Given the description of an element on the screen output the (x, y) to click on. 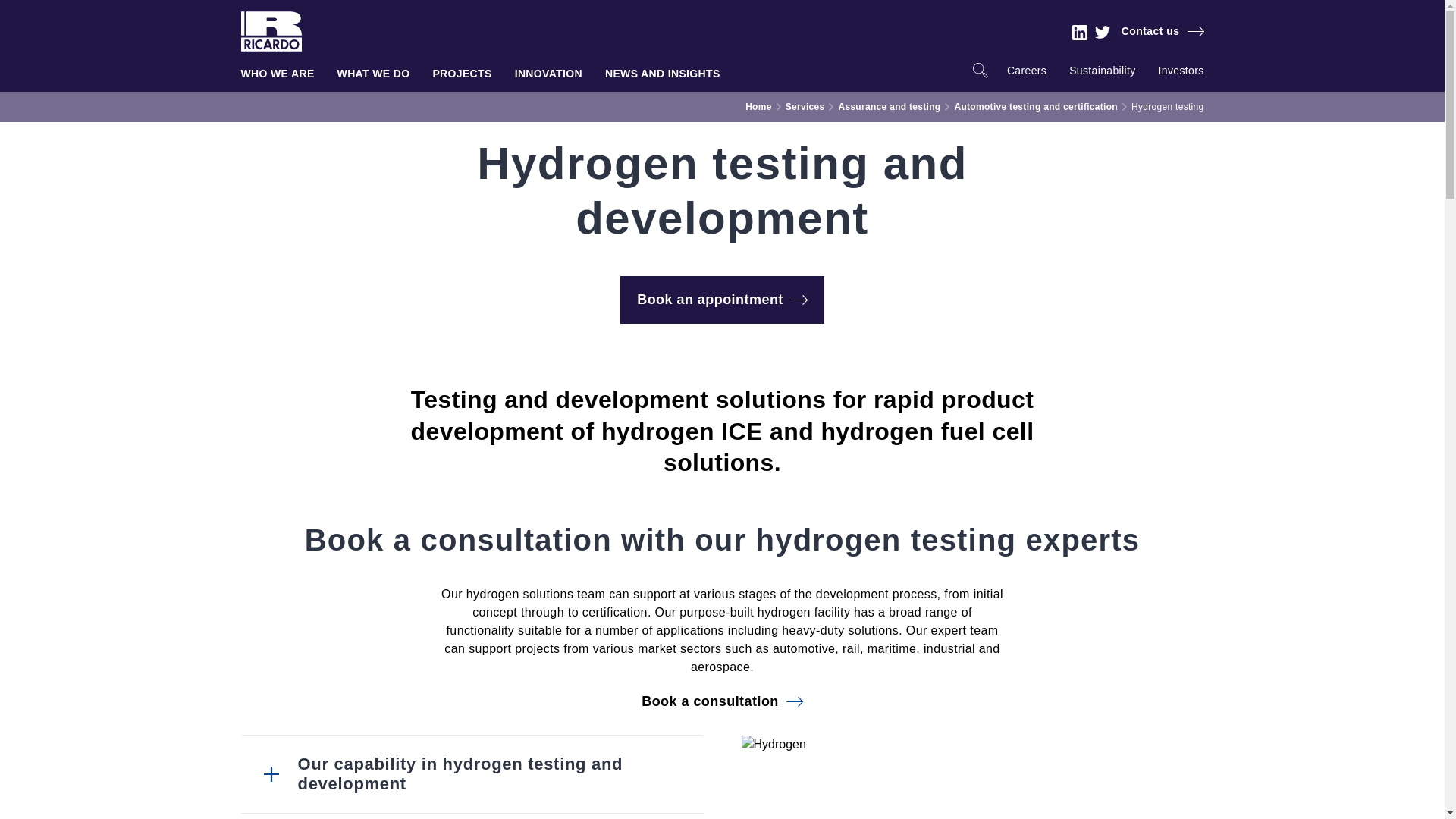
WHO WE ARE (277, 77)
WHAT WE DO (373, 77)
Contact us (1162, 30)
